Given the description of an element on the screen output the (x, y) to click on. 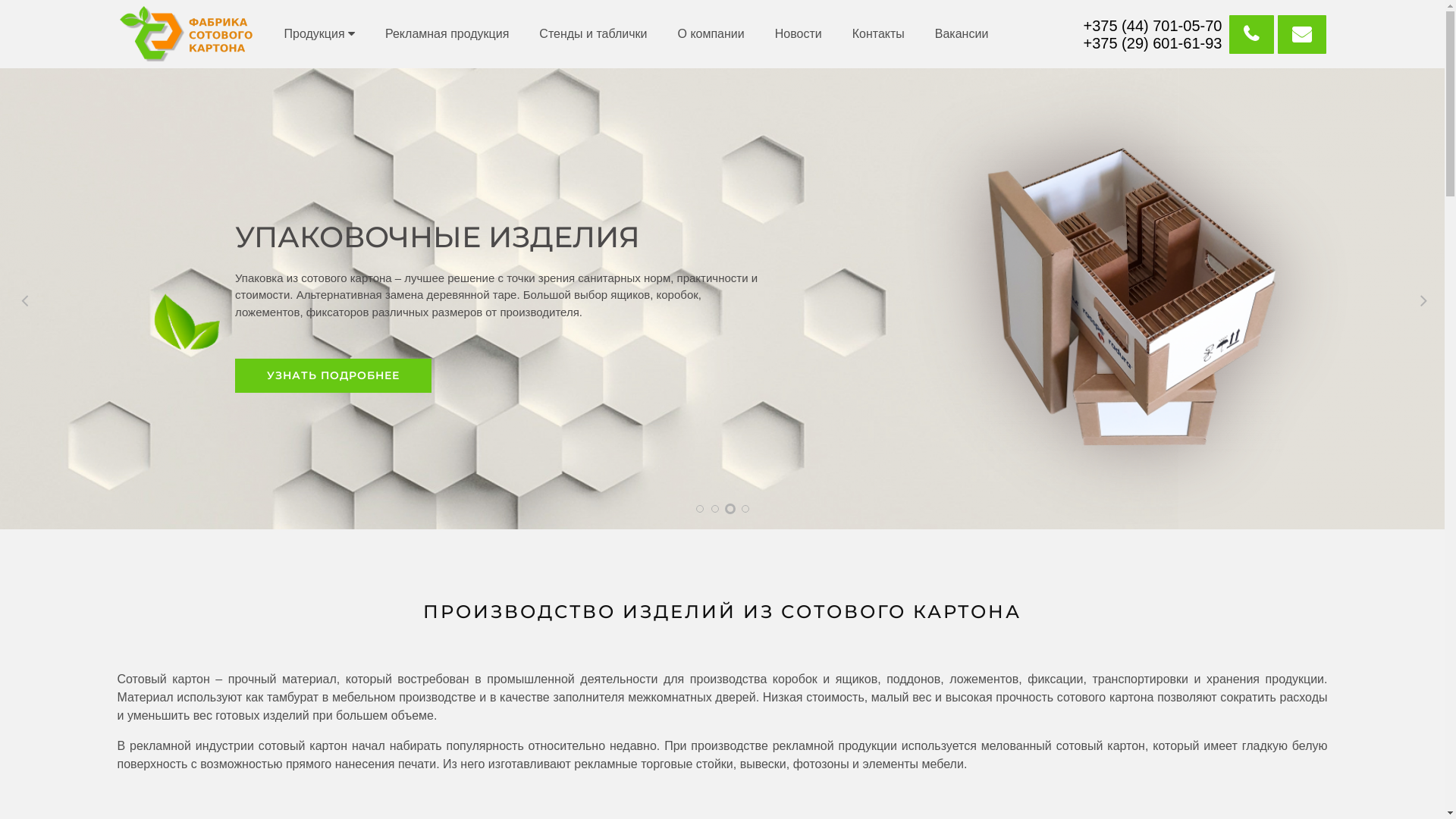
3 Element type: text (729, 508)
1 Element type: text (699, 508)
+375 (29) 601-61-93 Element type: text (1153, 43)
+375 (44) 701-05-70 Element type: text (1153, 24)
2 Element type: text (714, 508)
4 Element type: text (745, 508)
